Given the description of an element on the screen output the (x, y) to click on. 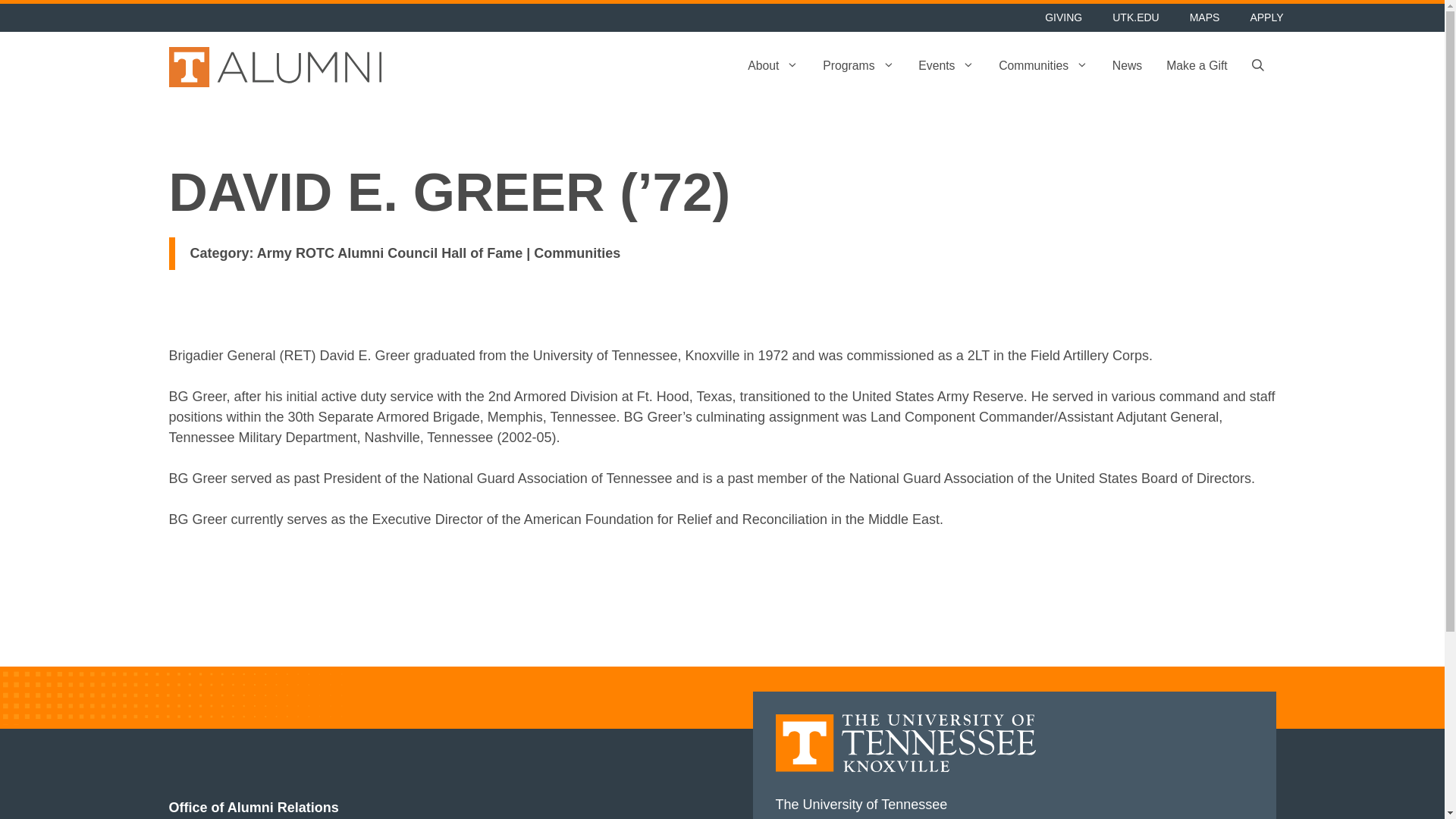
MAPS (1204, 17)
APPLY (1266, 17)
About (772, 67)
UTK.EDU (1135, 17)
Events (946, 67)
GIVING (1063, 17)
Communities (1043, 67)
Make a Gift (1197, 67)
Programs (857, 67)
News (1127, 67)
